Given the description of an element on the screen output the (x, y) to click on. 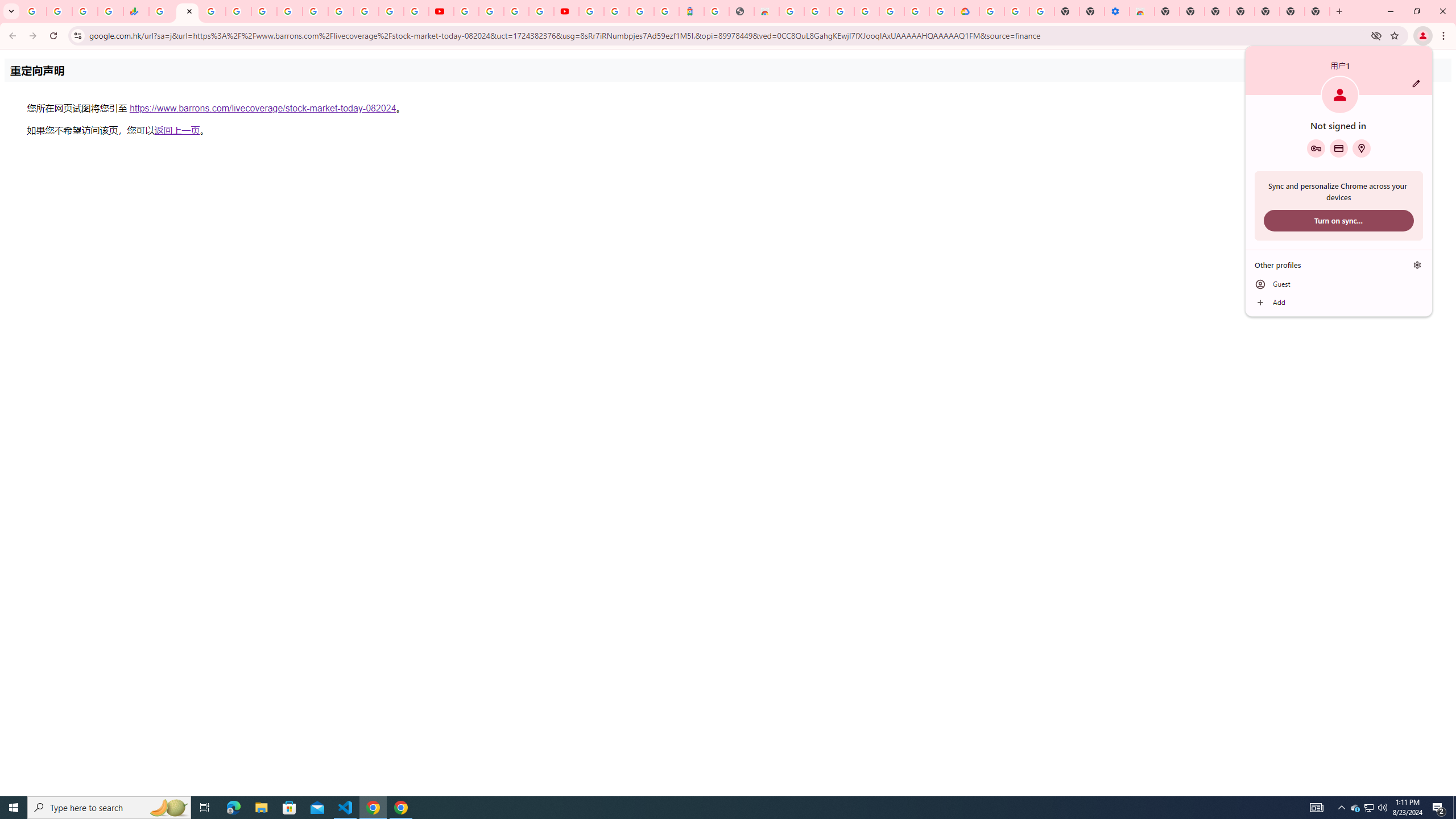
Privacy Checkup (415, 11)
Sign in - Google Accounts (916, 11)
Customize profile (1415, 83)
Q2790: 100% (1382, 807)
Google Workspace Admin Community (34, 11)
Sign in - Google Accounts (238, 11)
Content Creator Programs & Opportunities - YouTube Creators (565, 11)
Turn cookies on or off - Computer - Google Account Help (1042, 11)
